Given the description of an element on the screen output the (x, y) to click on. 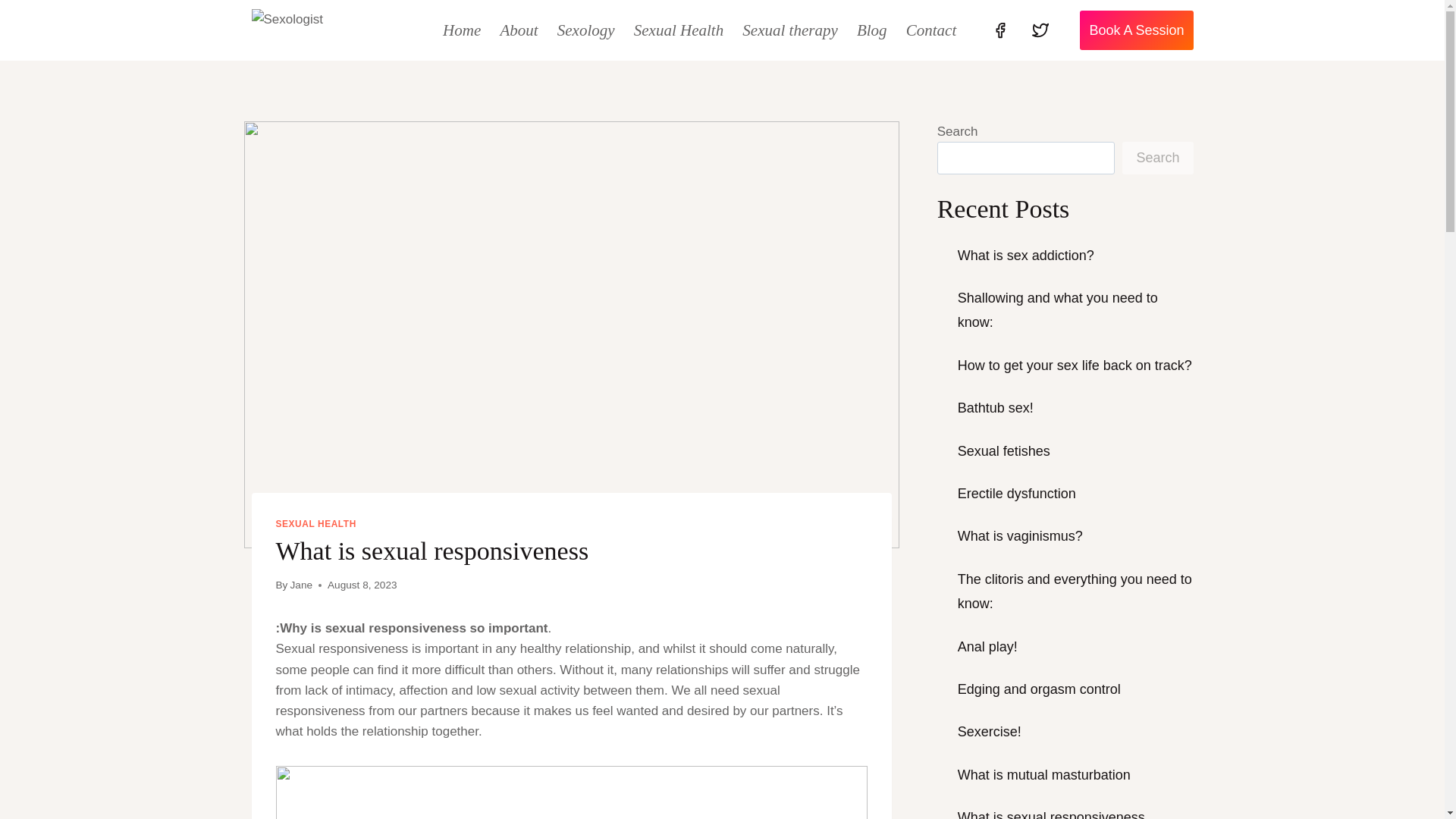
Sexual therapy (790, 30)
Home (461, 30)
SEXUAL HEALTH (316, 523)
Contact (931, 30)
About (518, 30)
Blog (871, 30)
Sexual Health (678, 30)
Jane (301, 584)
Sexology (585, 30)
Book A Session (1136, 30)
